Given the description of an element on the screen output the (x, y) to click on. 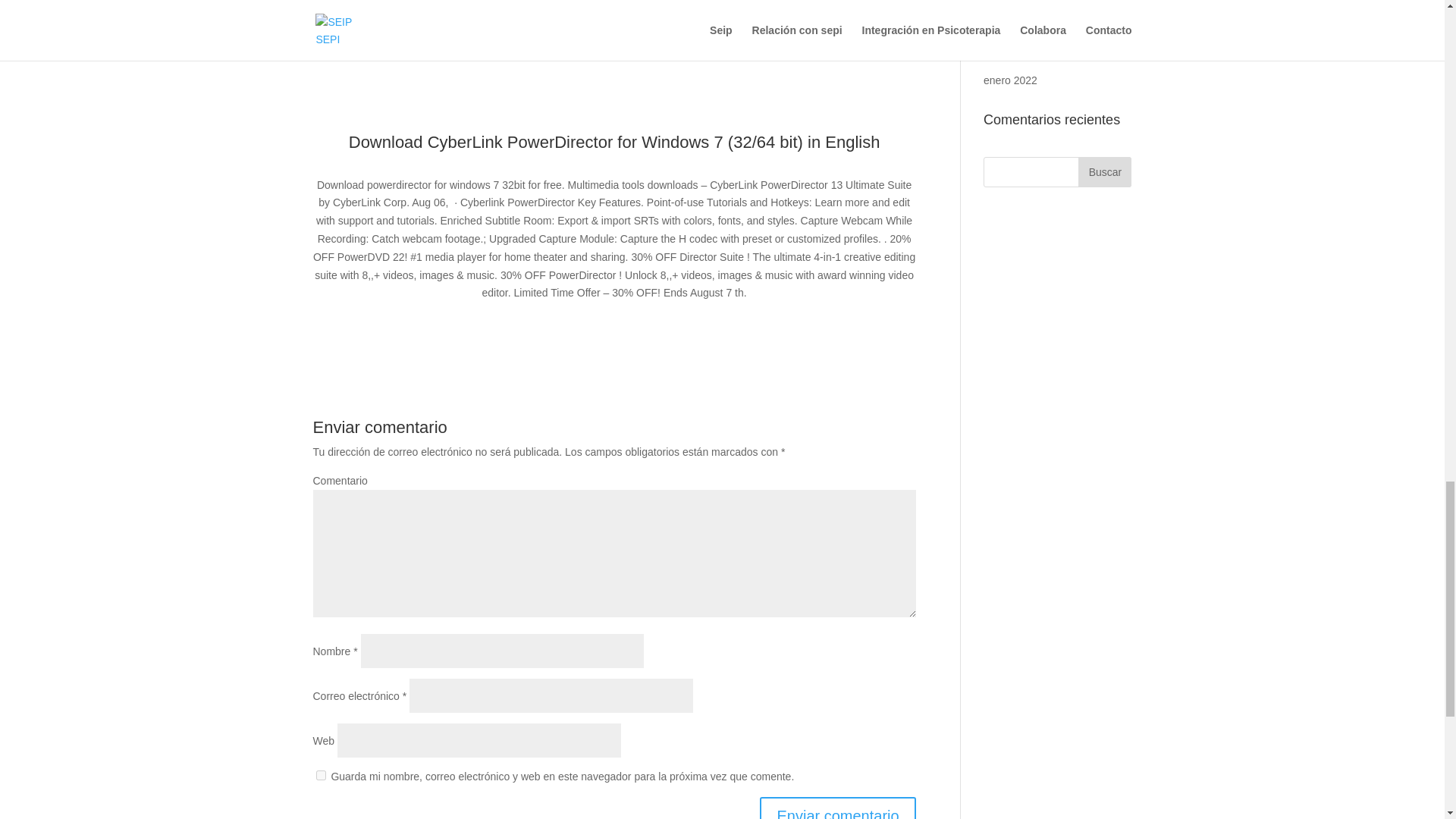
yes (319, 775)
Enviar comentario (837, 807)
Enviar comentario (837, 807)
Buscar (1104, 172)
